Given the description of an element on the screen output the (x, y) to click on. 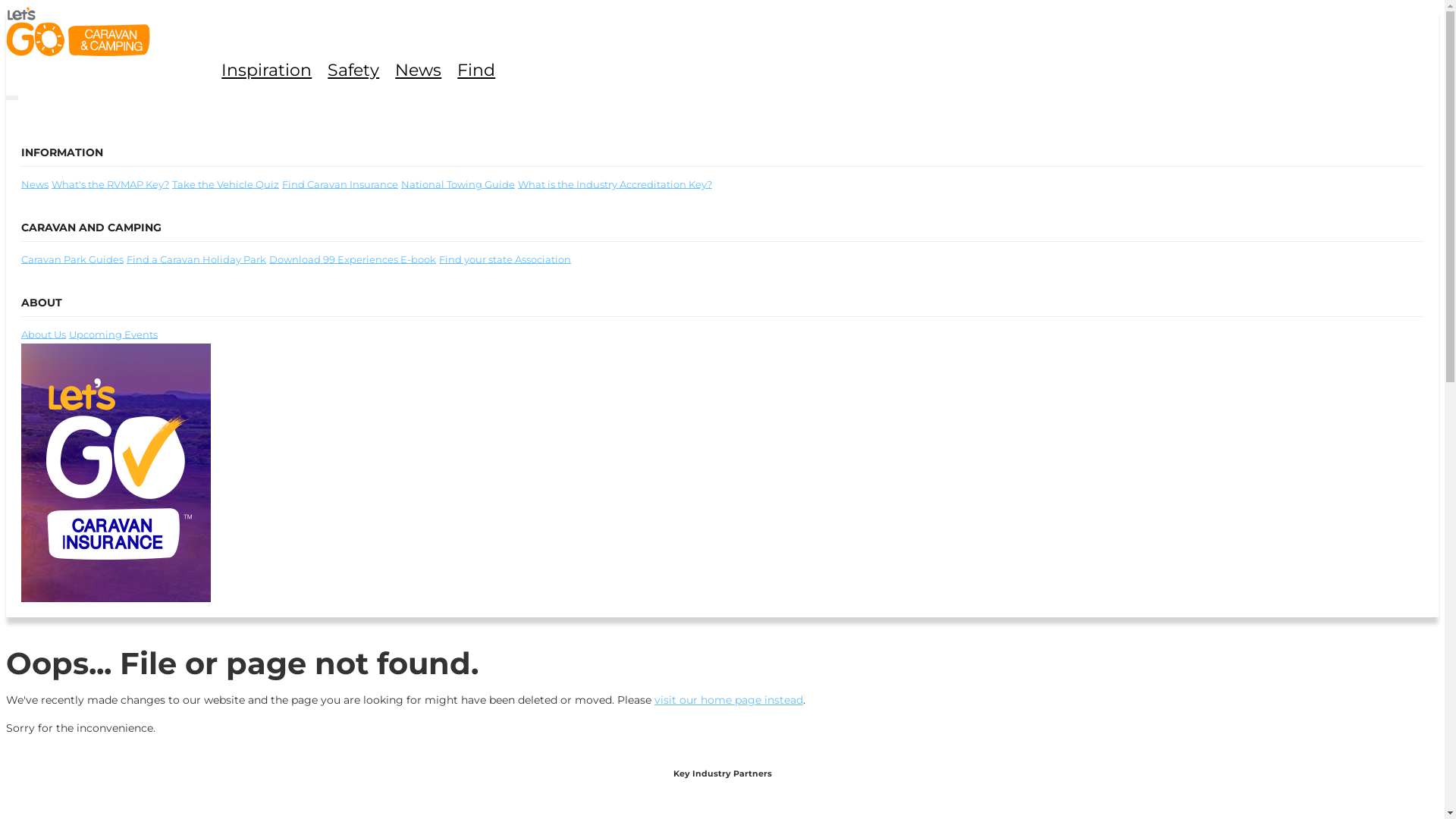
Upcoming Events Element type: text (113, 334)
What is the Industry Accreditation Key? Element type: text (614, 183)
Safety Element type: text (358, 69)
Find your state Association Element type: text (505, 258)
Caravan Park Guides Element type: text (72, 258)
visit our home page instead Element type: text (728, 699)
News Element type: text (423, 69)
Find Element type: text (481, 69)
Download 99 Experiences E-book Element type: text (352, 258)
Take the Vehicle Quiz Element type: text (225, 183)
What's the RVMAP Key? Element type: text (110, 183)
National Towing Guide Element type: text (457, 183)
News Element type: text (34, 183)
Search Element type: text (721, 430)
About Us Element type: text (43, 334)
Find a Caravan Holiday Park Element type: text (196, 258)
Find Caravan Insurance Element type: text (340, 183)
Inspiration Element type: text (272, 69)
